Given the description of an element on the screen output the (x, y) to click on. 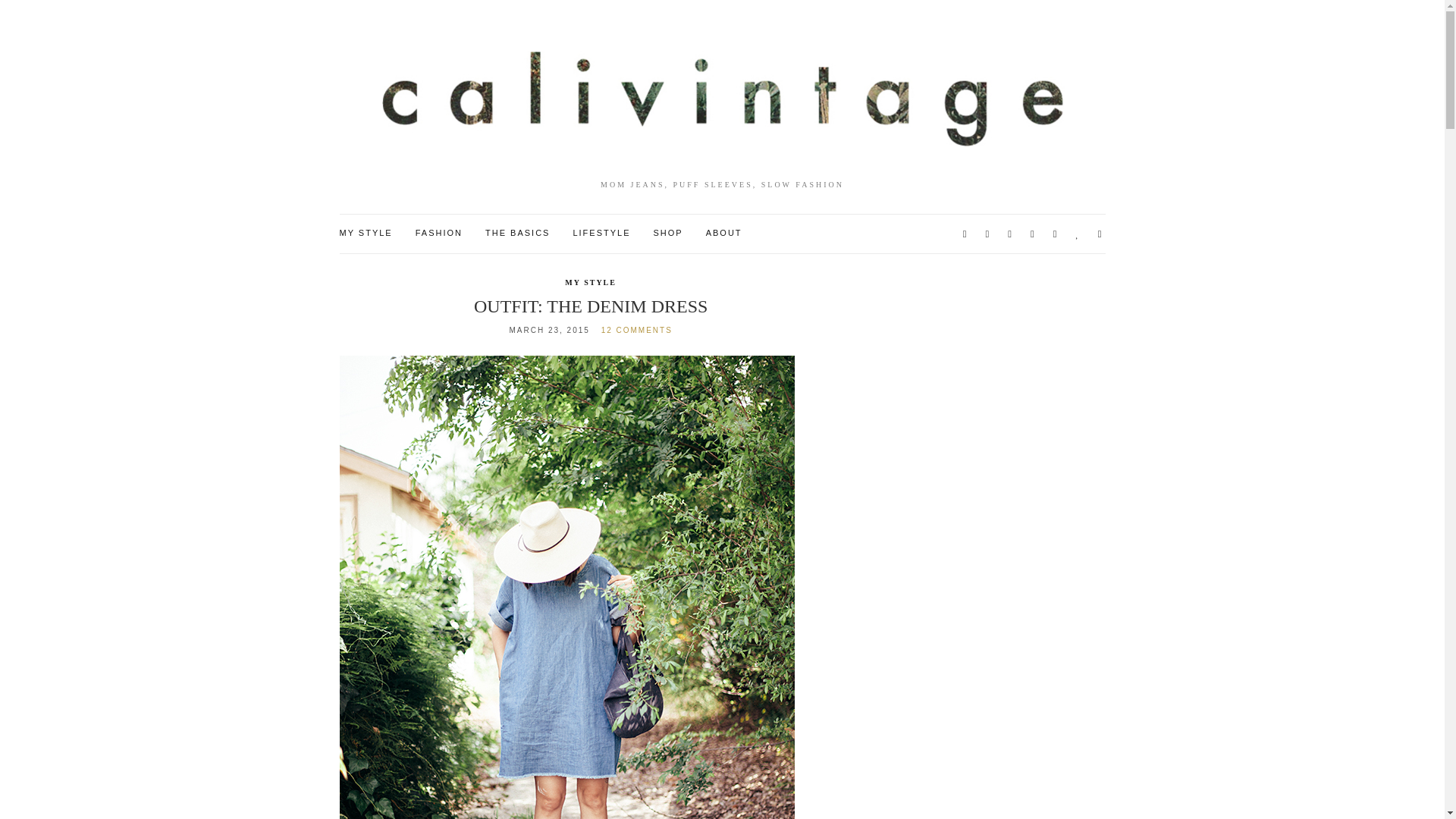
MY STYLE (589, 282)
FASHION (438, 233)
LIFESTYLE (601, 233)
SHOP (667, 233)
12 COMMENTS (636, 329)
ABOUT (724, 233)
MY STYLE (366, 233)
THE BASICS (517, 233)
